Given the description of an element on the screen output the (x, y) to click on. 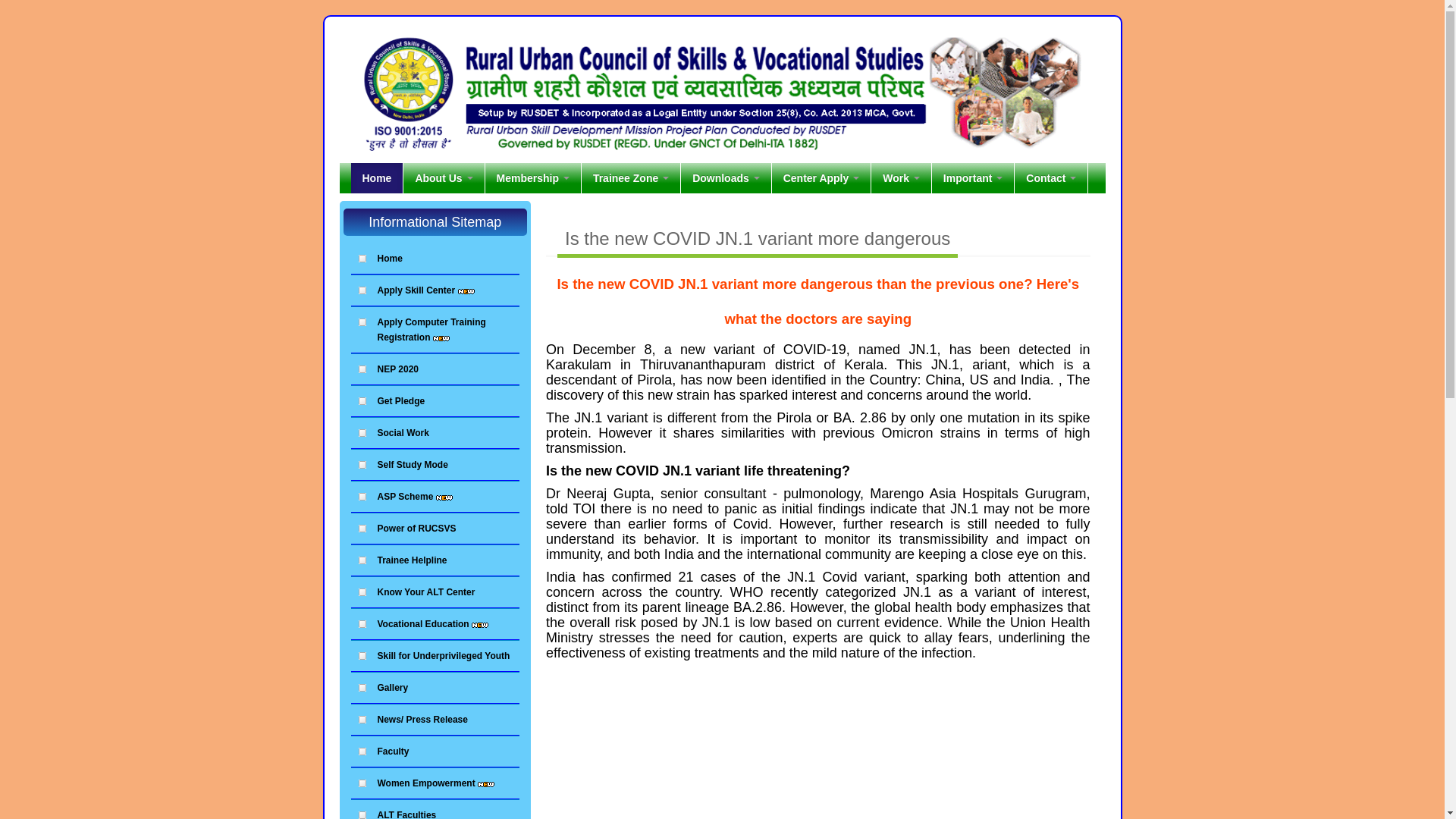
Trainee Zone (629, 177)
About Us (443, 177)
Downloads (726, 177)
Membership (532, 177)
Home (376, 177)
Center Apply (820, 177)
Work (900, 177)
